Given the description of an element on the screen output the (x, y) to click on. 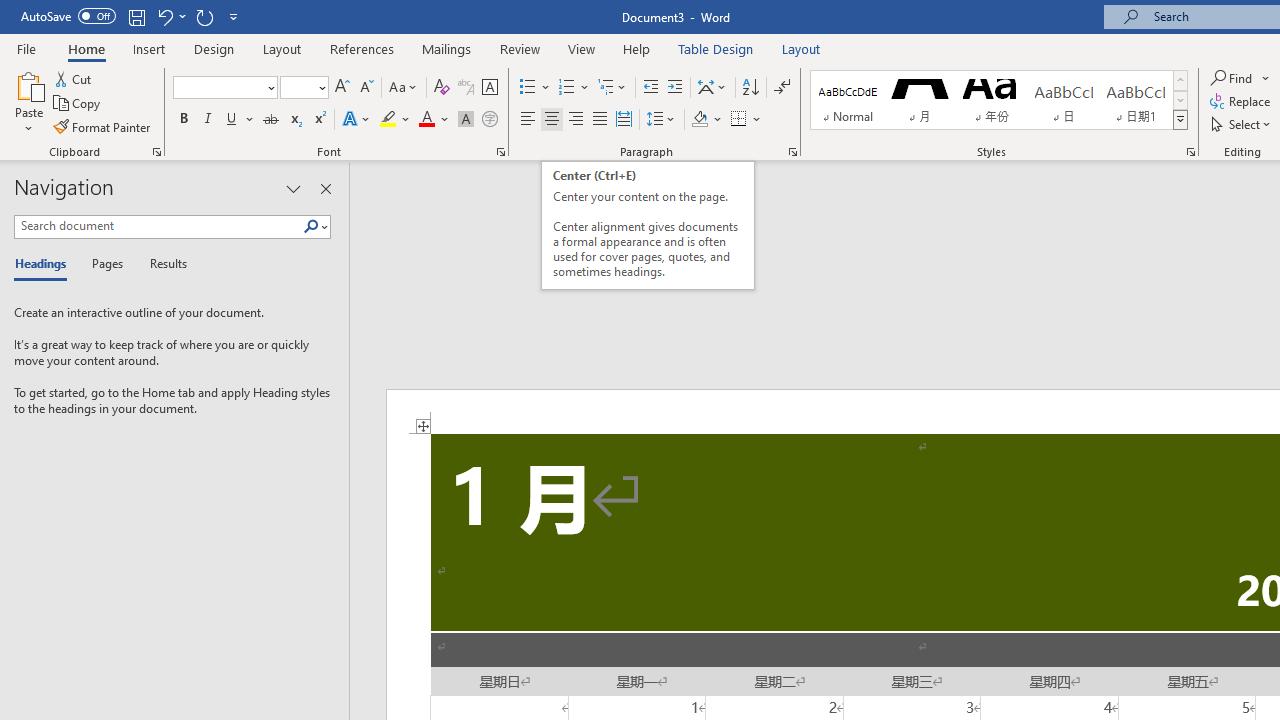
Results (161, 264)
Text Highlight Color Yellow (388, 119)
Grow Font (342, 87)
AutomationID: QuickStylesGallery (999, 99)
Search document (157, 226)
Distributed (623, 119)
Font Color RGB(255, 0, 0) (426, 119)
